Given the description of an element on the screen output the (x, y) to click on. 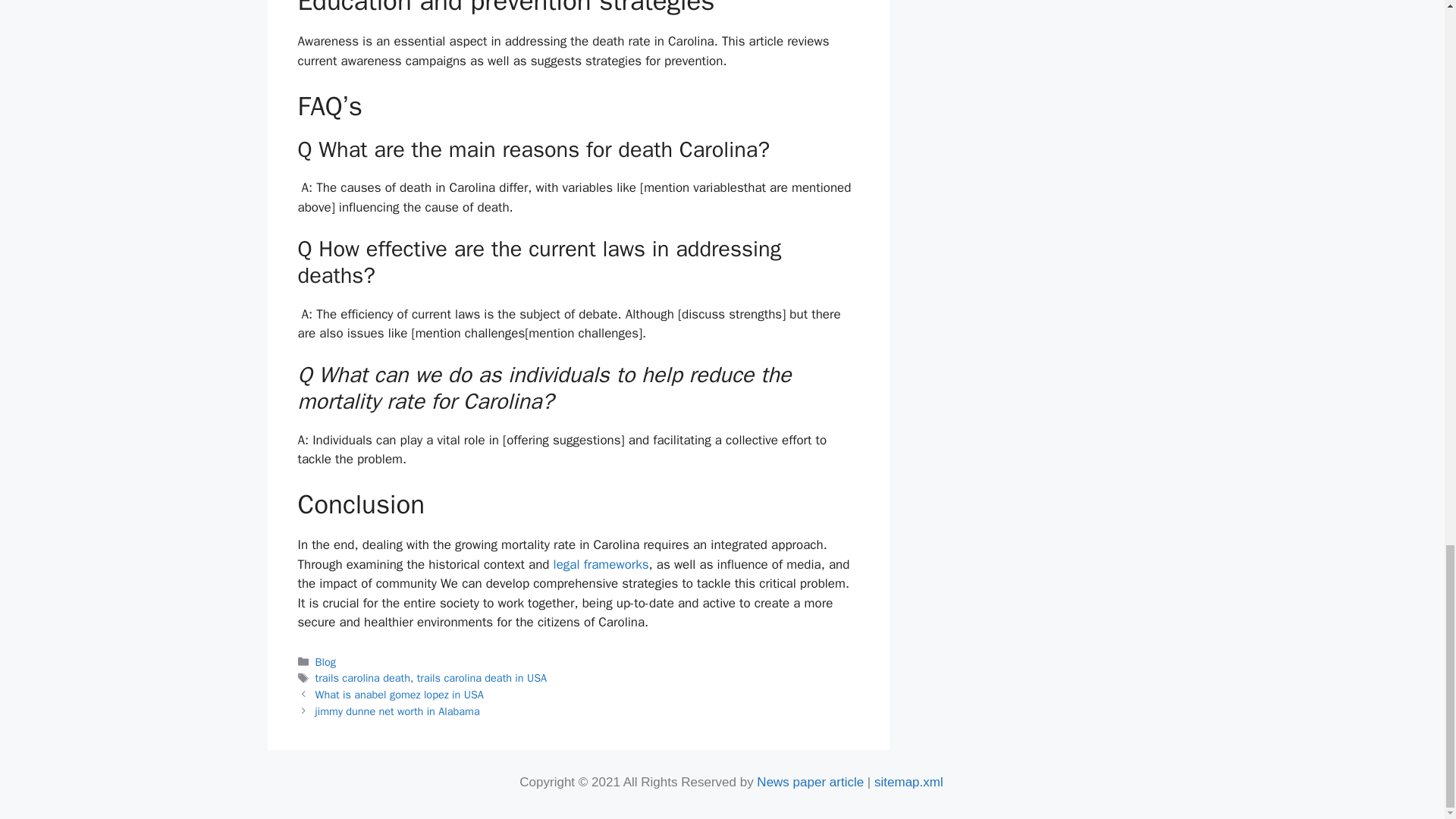
Blog (325, 662)
jimmy dunne net worth in Alabama (397, 711)
trails carolina death in USA (481, 677)
trails carolina death (362, 677)
legal frameworks (599, 564)
What is anabel gomez lopez in USA (399, 694)
